Given the description of an element on the screen output the (x, y) to click on. 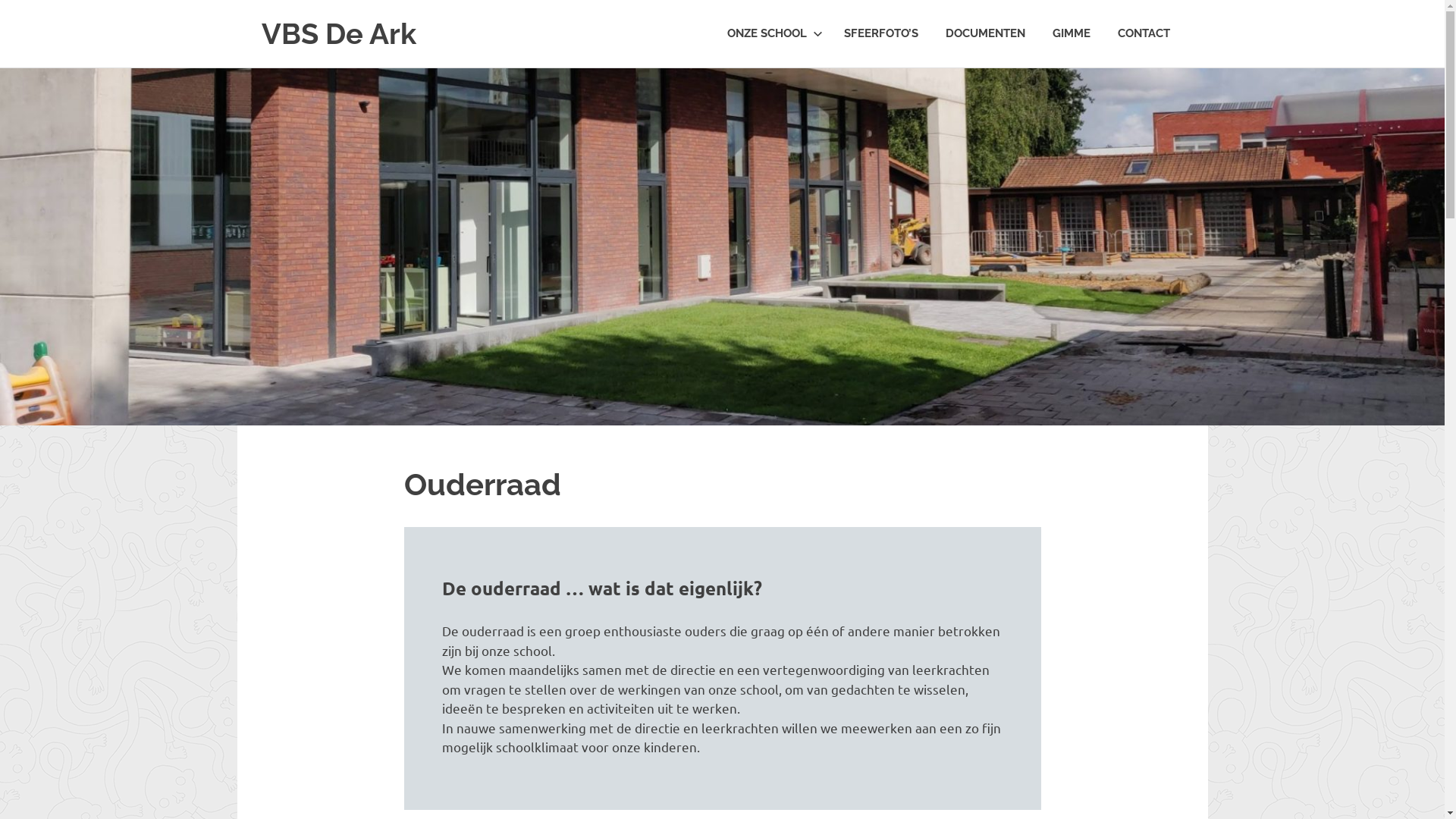
DOCUMENTEN Element type: text (984, 33)
CONTACT Element type: text (1143, 33)
ONZE SCHOOL Element type: text (770, 33)
VBS De Ark Element type: text (337, 33)
GIMME Element type: text (1071, 33)
